Given the description of an element on the screen output the (x, y) to click on. 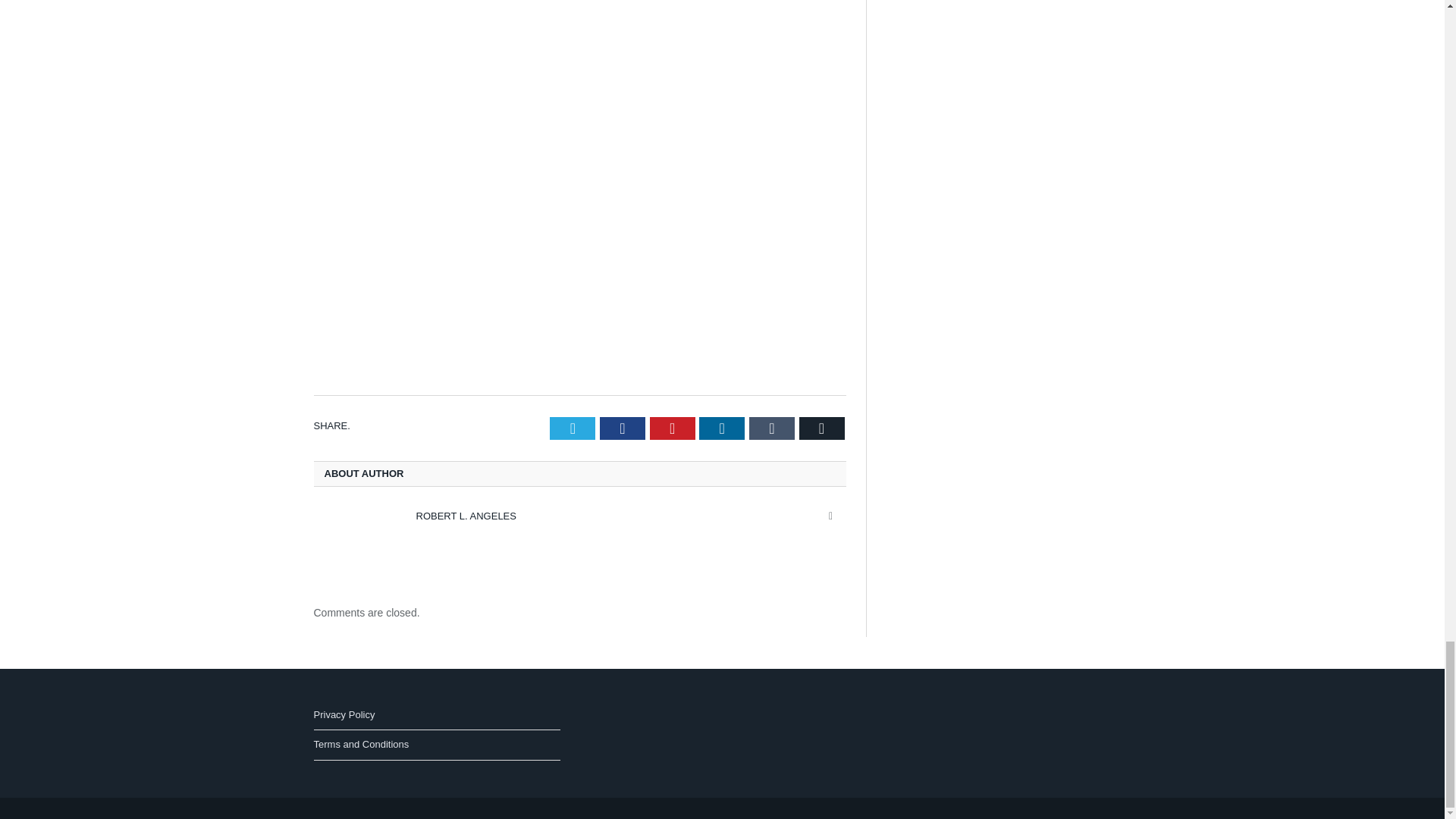
Facebook (622, 427)
LinkedIn (721, 427)
Posts by Robert L. Angeles (464, 515)
ROBERT L. ANGELES (464, 515)
Email (821, 427)
Website (831, 516)
Website (831, 516)
Tumblr (771, 427)
Twitter (572, 427)
Pinterest (672, 427)
